Given the description of an element on the screen output the (x, y) to click on. 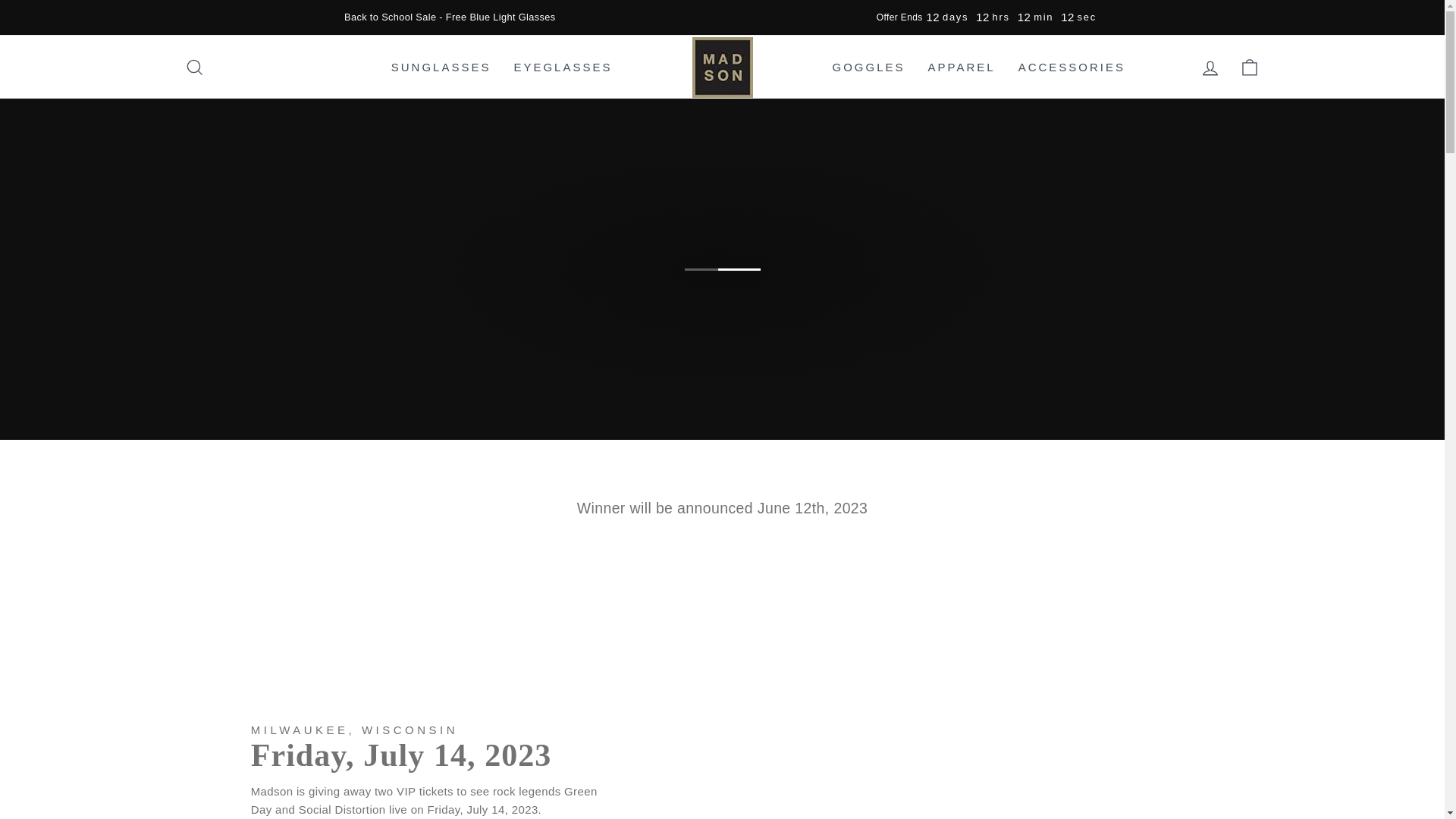
EYEGLASSES (562, 66)
GOGGLES (868, 66)
APPAREL (962, 66)
SUNGLASSES (441, 66)
SEARCH (194, 66)
LOG IN (1210, 66)
ACCESSORIES (1072, 66)
